Given the description of an element on the screen output the (x, y) to click on. 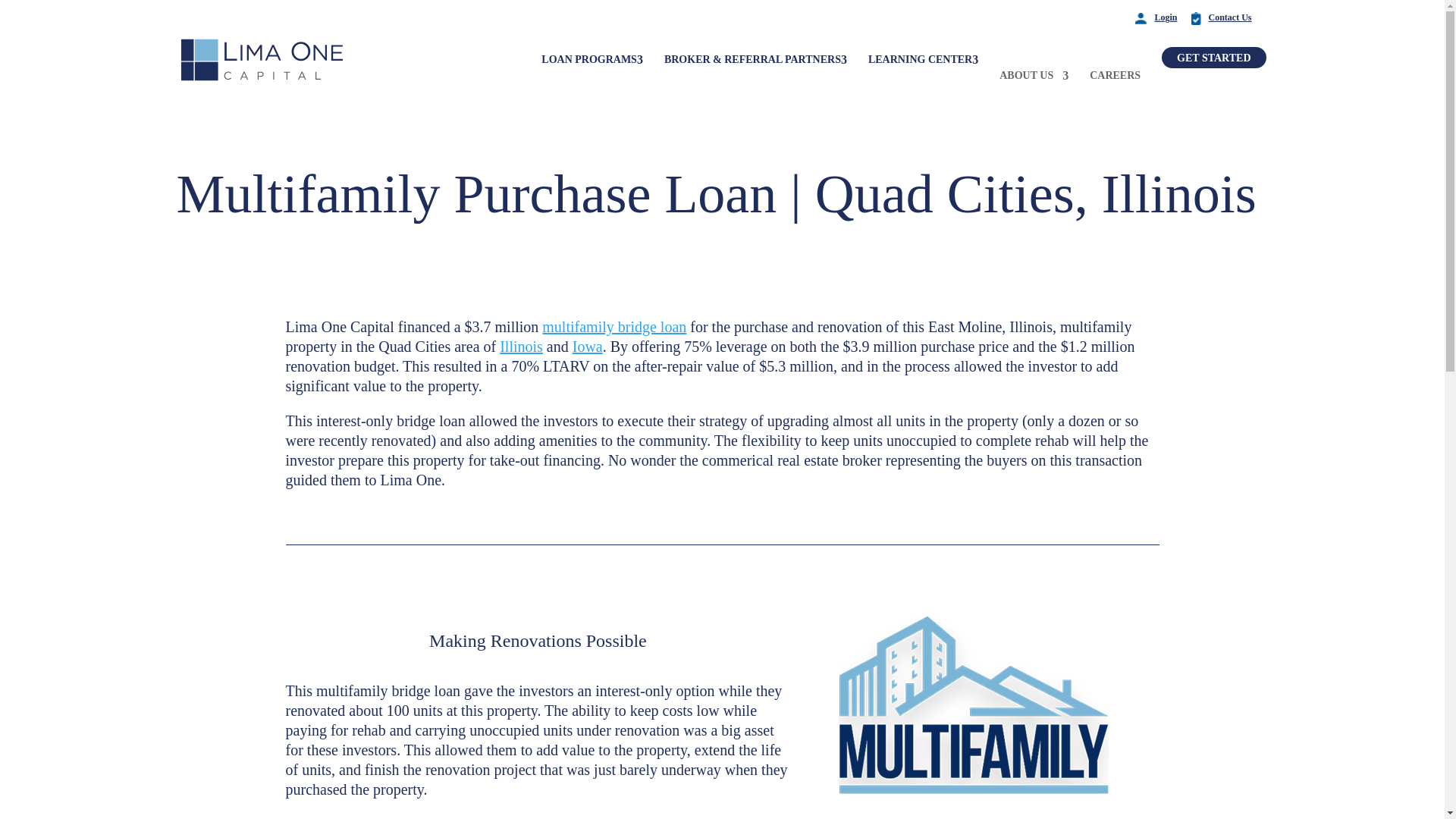
Illinois (521, 346)
ABOUT US (1033, 75)
Iowa (587, 346)
CAREERS (1114, 75)
Contact Us (1230, 17)
multifamily bridge loan (613, 326)
Login (1165, 17)
GET STARTED (1213, 56)
